Given the description of an element on the screen output the (x, y) to click on. 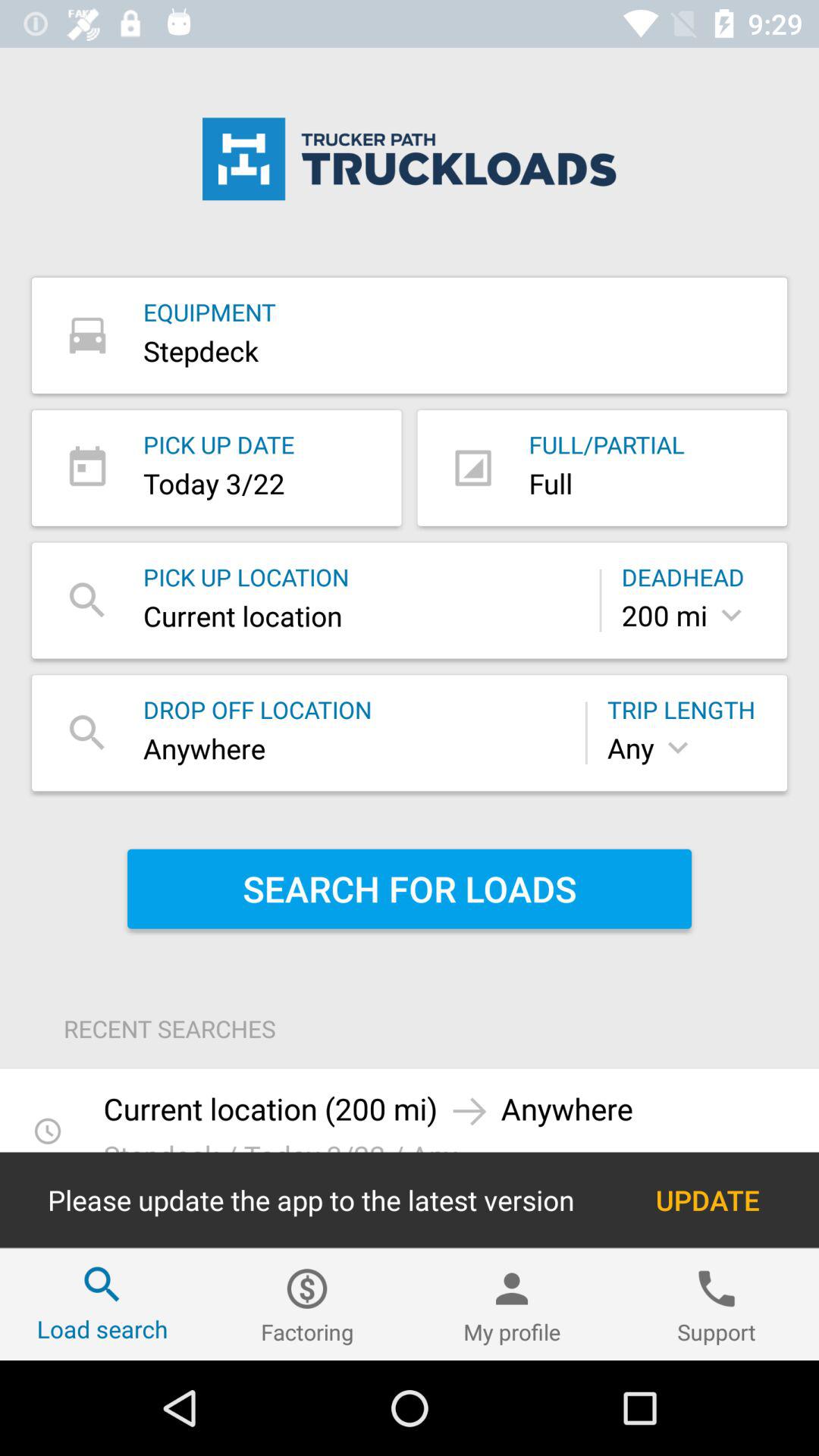
click the item at the center (409, 888)
